Given the description of an element on the screen output the (x, y) to click on. 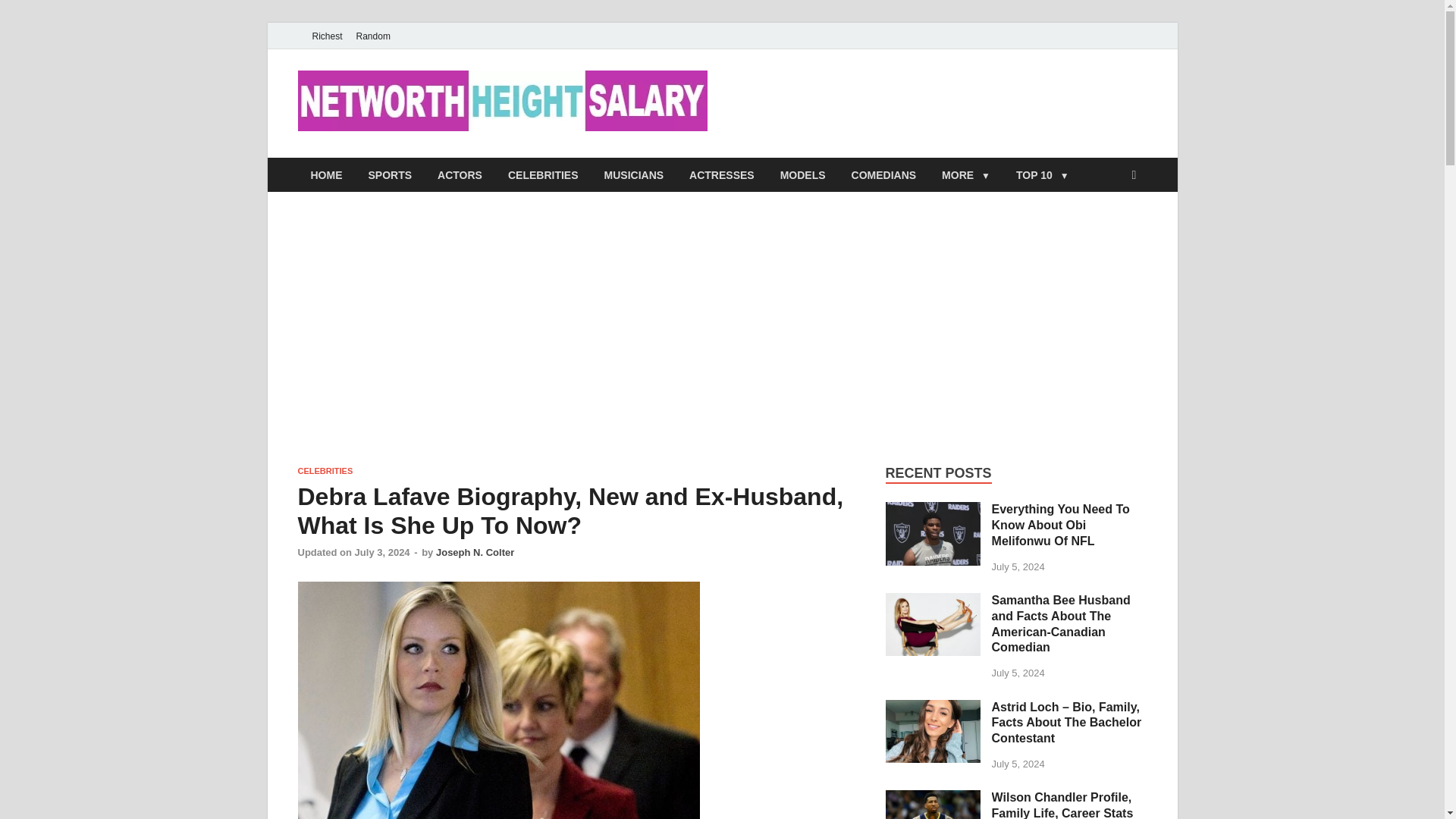
HOME (326, 174)
MORE (965, 174)
COMEDIANS (884, 174)
ACTRESSES (722, 174)
Richest (326, 35)
CELEBRITIES (543, 174)
MODELS (802, 174)
Random (373, 35)
Networth Height Salary (869, 100)
MUSICIANS (634, 174)
Everything You Need To Know About Obi Melifonwu Of NFL (932, 510)
ACTORS (460, 174)
SPORTS (390, 174)
TOP 10 (1042, 174)
